Given the description of an element on the screen output the (x, y) to click on. 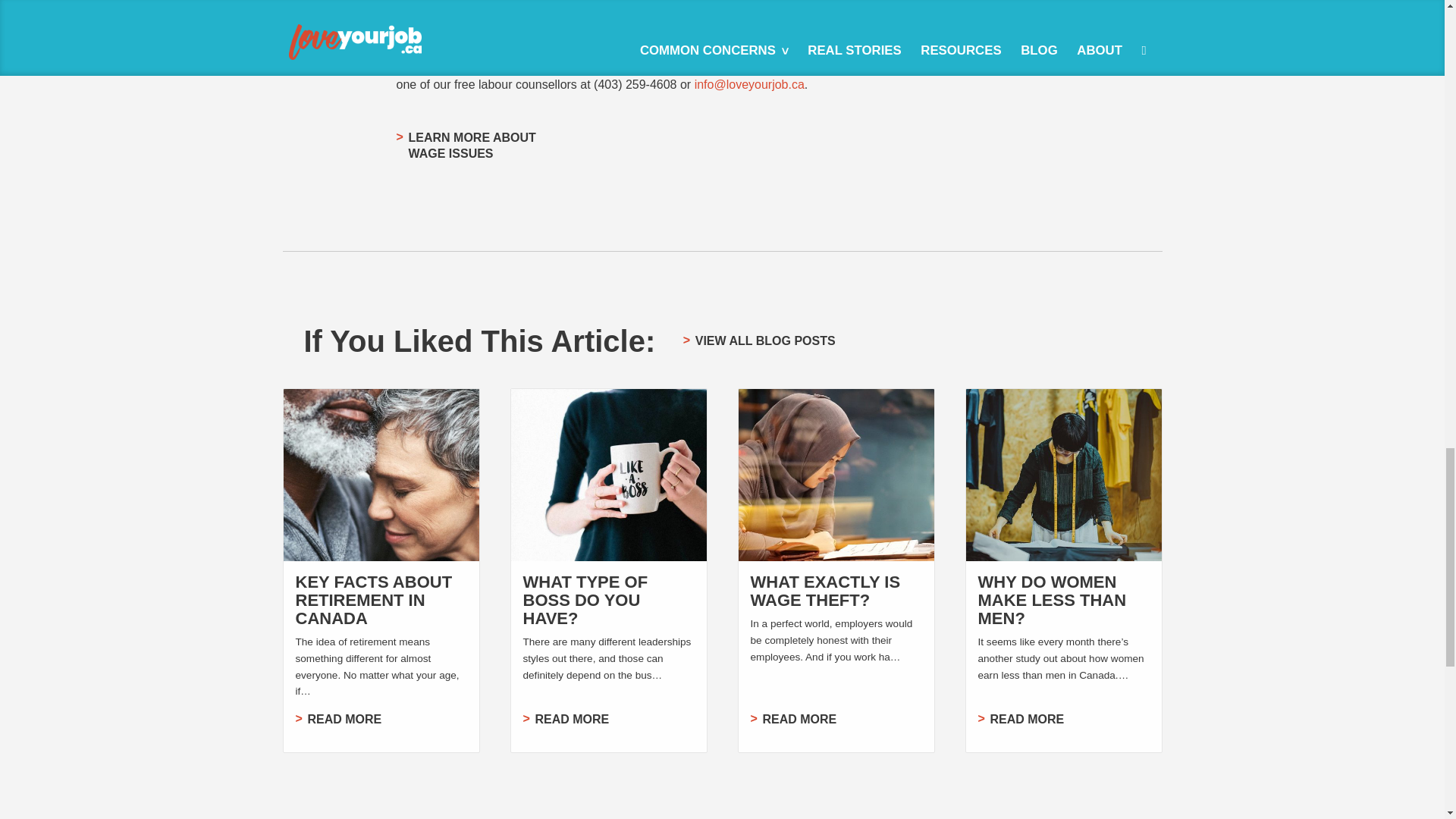
WHAT TYPE OF BOSS DO YOU HAVE?  (465, 146)
READ MORE (584, 600)
WHAT EXACTLY IS WAGE THEFT? (836, 719)
READ MORE (826, 590)
KEY FACTS ABOUT RETIREMENT IN CANADA (608, 719)
READ MORE (373, 600)
VIEW ALL BLOG POSTS (381, 719)
READ MORE (758, 341)
WHY DO WOMEN MAKE LESS THAN MEN? (1064, 719)
